Given the description of an element on the screen output the (x, y) to click on. 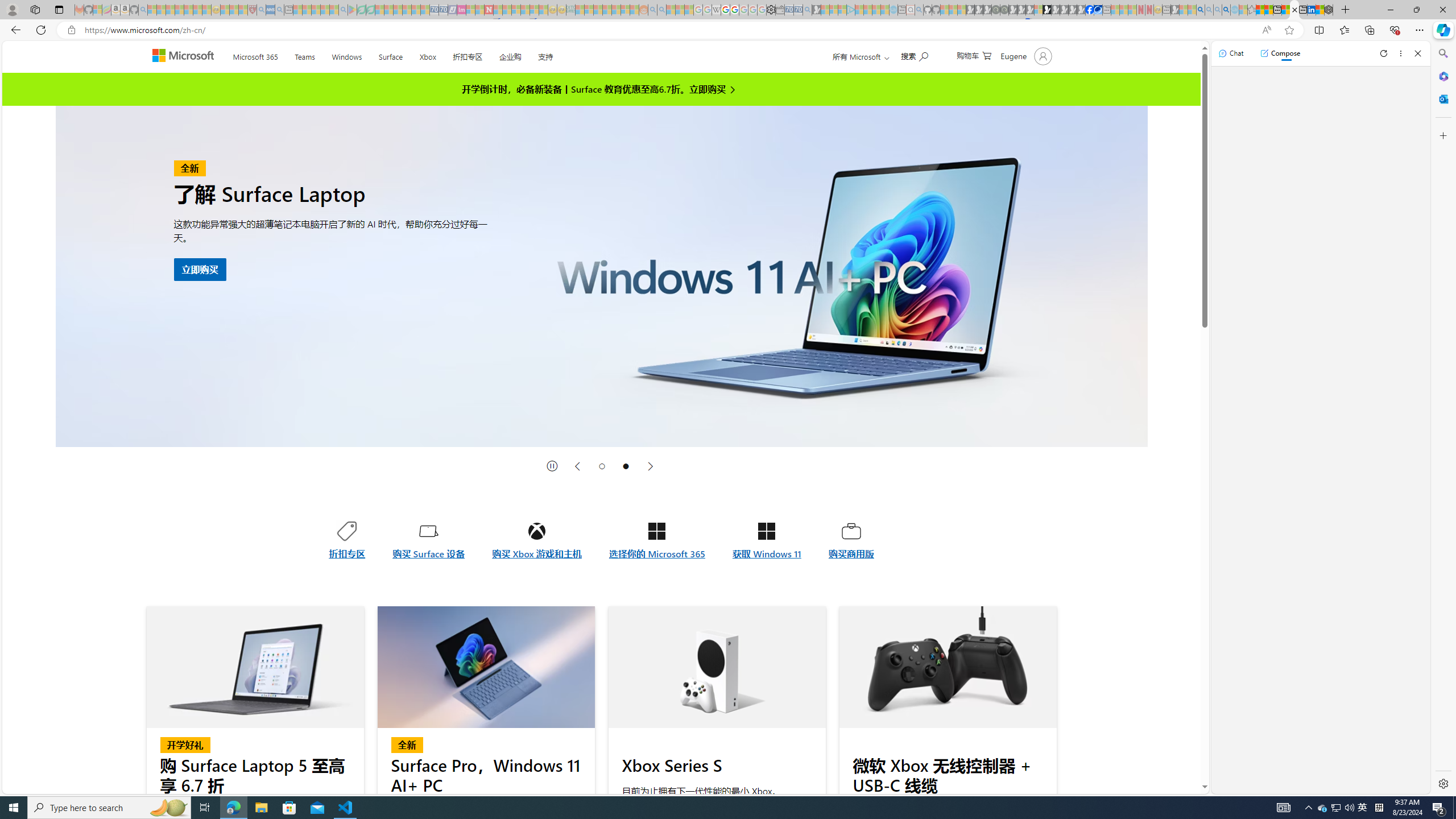
AQI & Health | AirNow.gov (1098, 9)
Google Chrome Internet Browser Download - Search Images (1225, 9)
Aberdeen, Hong Kong SAR weather forecast | Microsoft Weather (1268, 9)
Recipes - MSN - Sleeping (224, 9)
